Given the description of an element on the screen output the (x, y) to click on. 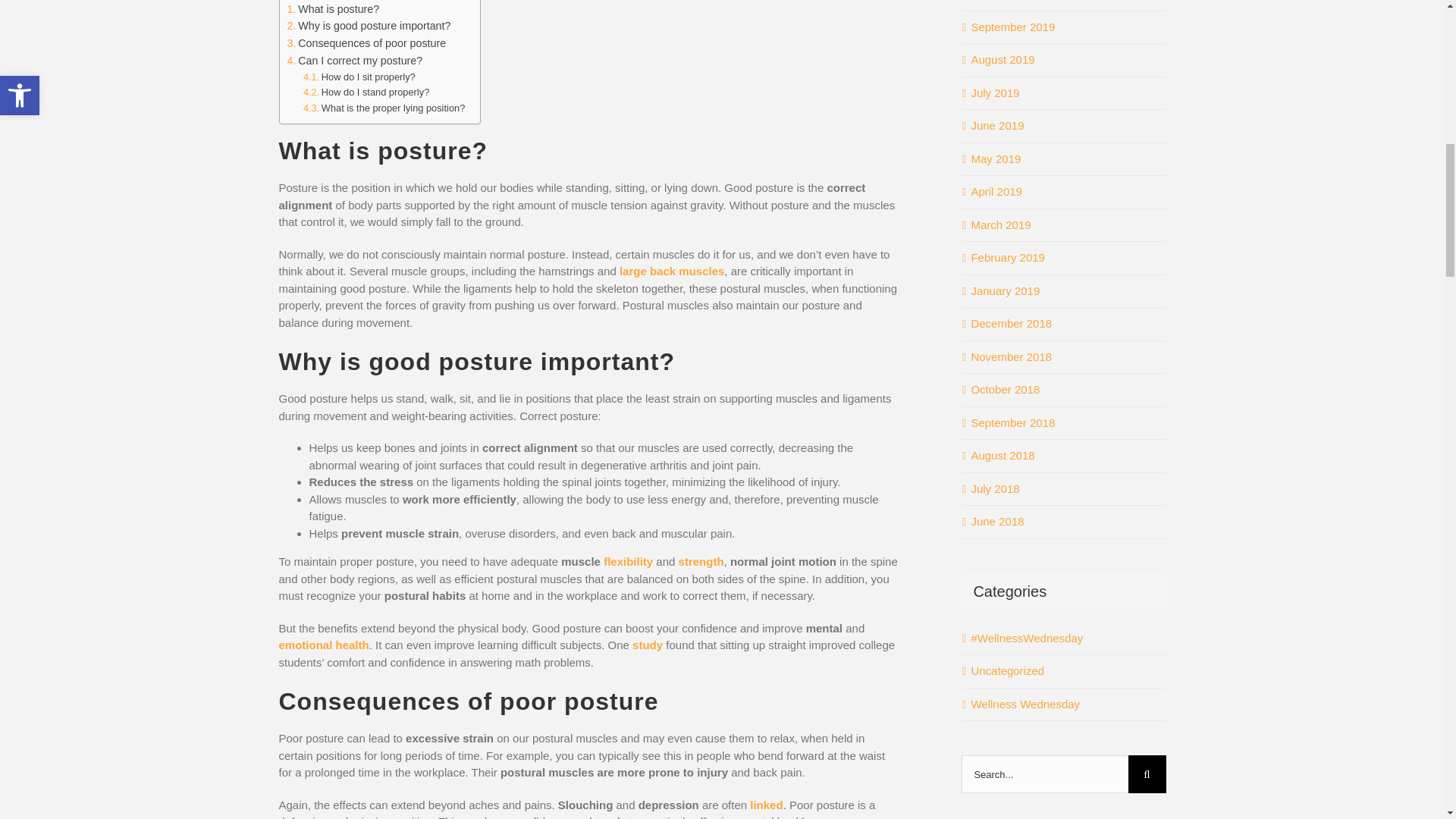
How do I sit properly? (358, 77)
Consequences of poor posture (365, 43)
Can I correct my posture? (354, 60)
What is the proper lying position? (383, 108)
How do I stand properly? (365, 92)
Why is good posture important? (367, 26)
What is posture? (332, 9)
